Given the description of an element on the screen output the (x, y) to click on. 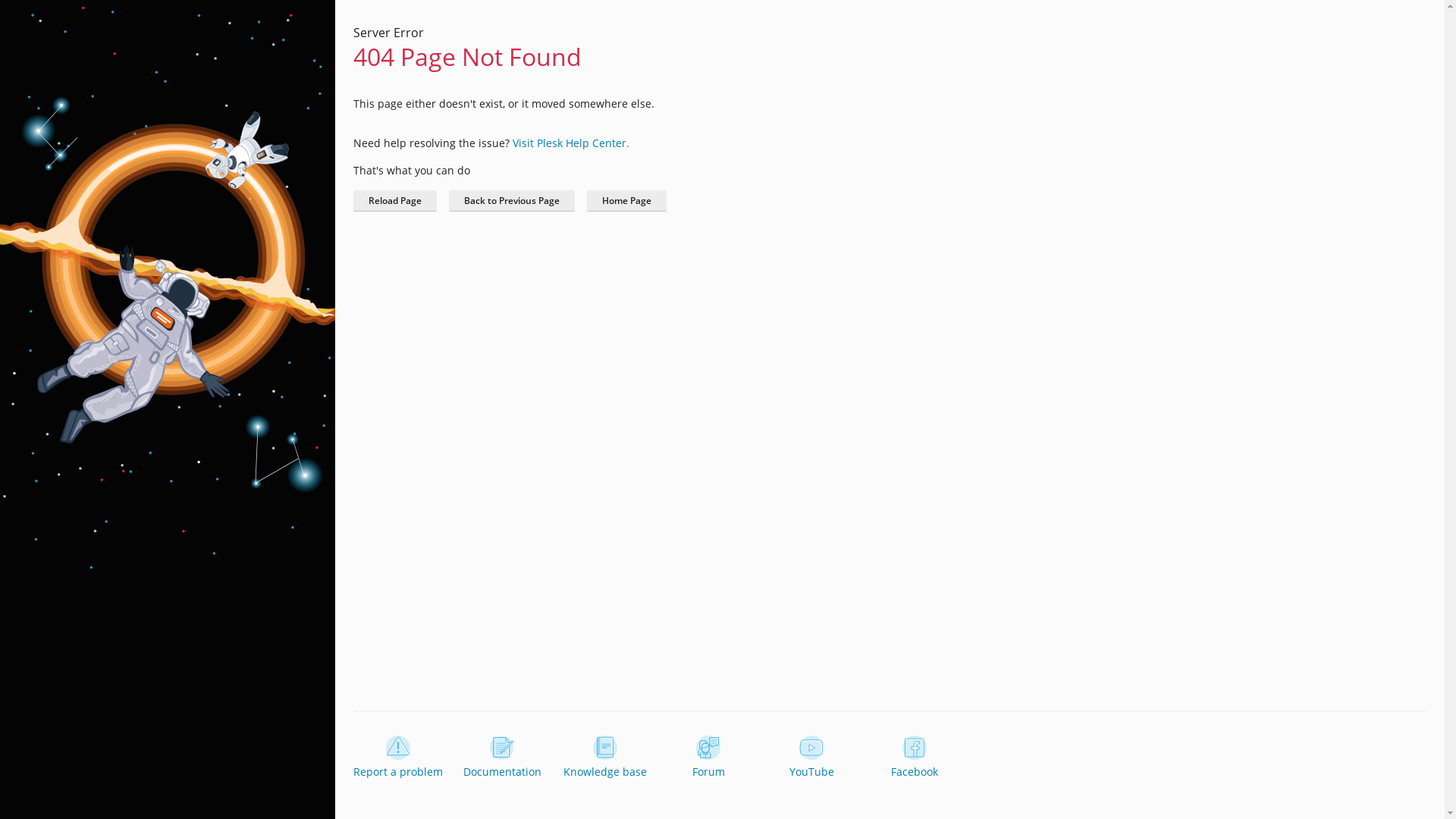
Visit Plesk Help Center. Element type: text (570, 142)
YouTube Element type: text (811, 757)
Back to Previous Page Element type: text (511, 200)
Forum Element type: text (708, 757)
Knowledge base Element type: text (605, 757)
Home Page Element type: text (626, 200)
Facebook Element type: text (914, 757)
Documentation Element type: text (502, 757)
Reload Page Element type: text (394, 200)
Report a problem Element type: text (397, 757)
